Given the description of an element on the screen output the (x, y) to click on. 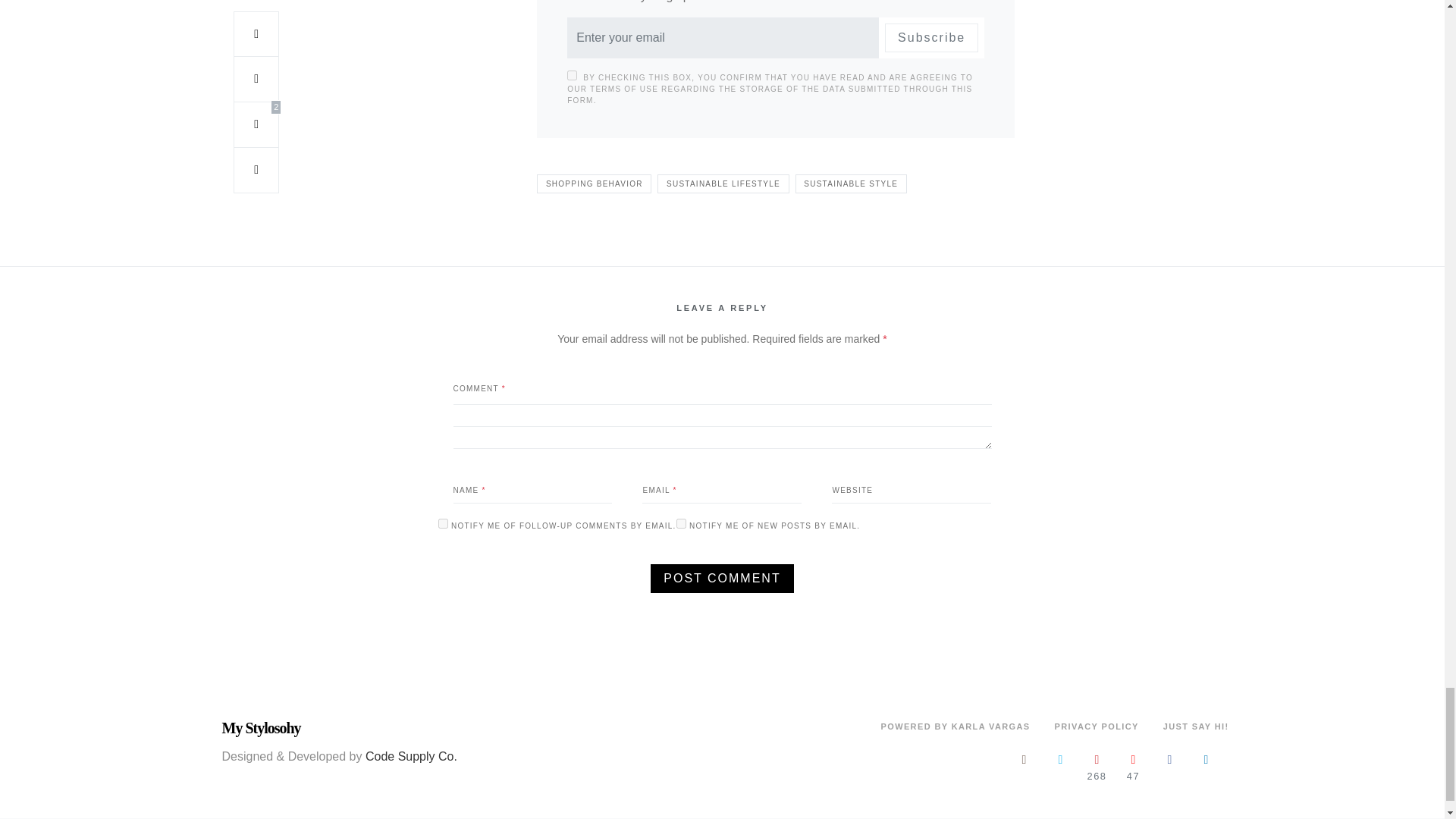
subscribe (443, 523)
on (571, 75)
Post Comment (721, 578)
subscribe (681, 523)
